Given the description of an element on the screen output the (x, y) to click on. 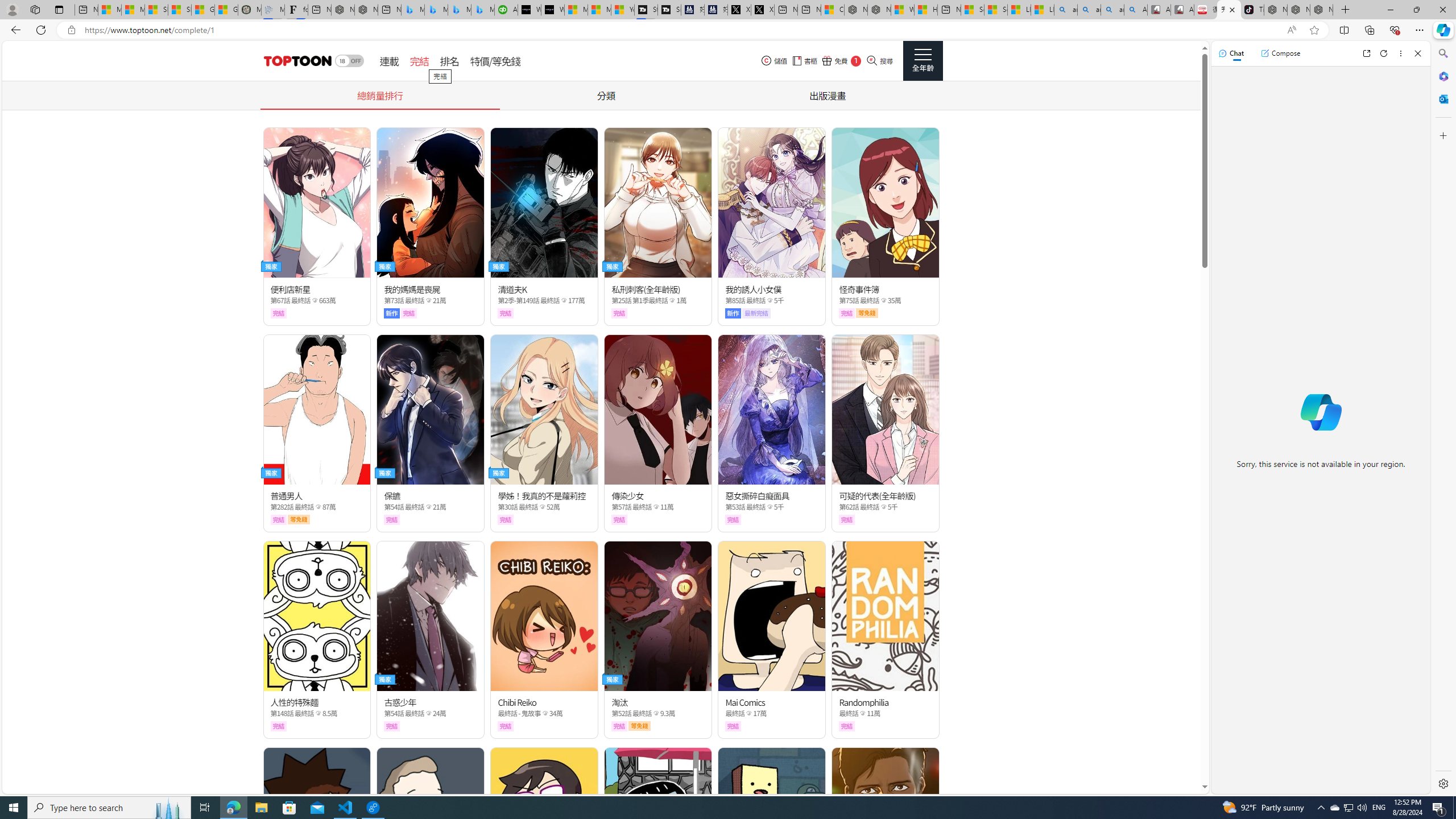
Manatee Mortality Statistics | FWC (249, 9)
Nordace Siena Pro 15 Backpack (1298, 9)
Streaming Coverage | T3 (645, 9)
amazon - Search Images (1112, 9)
